Given the description of an element on the screen output the (x, y) to click on. 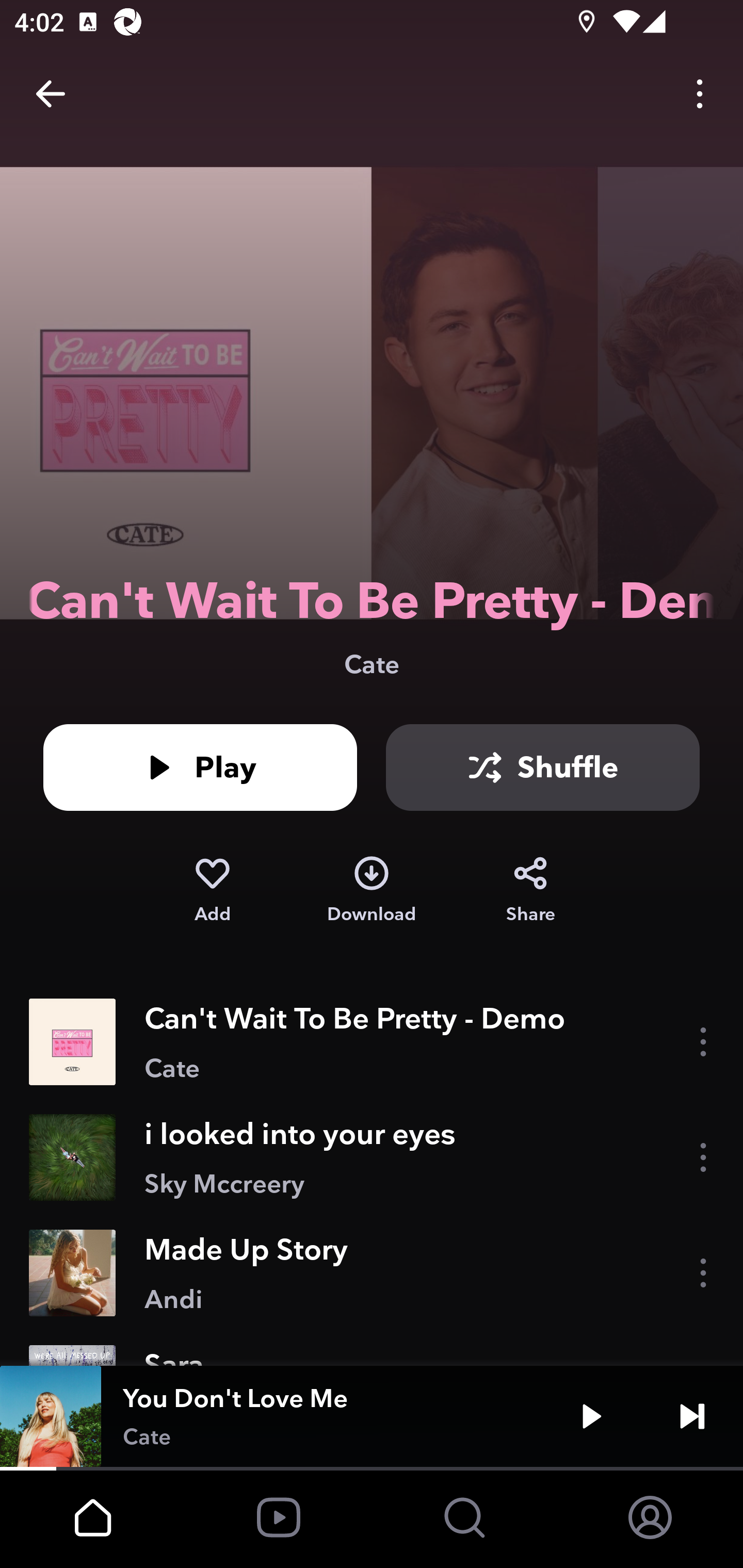
Options (699, 93)
Play (200, 767)
Shuffle (542, 767)
Add (211, 890)
Download (371, 890)
Share (530, 890)
Can't Wait To Be Pretty - Demo Cate (371, 1041)
i looked into your eyes Sky Mccreery (371, 1157)
Made Up Story Andi (371, 1273)
You Don't Love Me Cate Play (371, 1416)
Play (590, 1416)
